Given the description of an element on the screen output the (x, y) to click on. 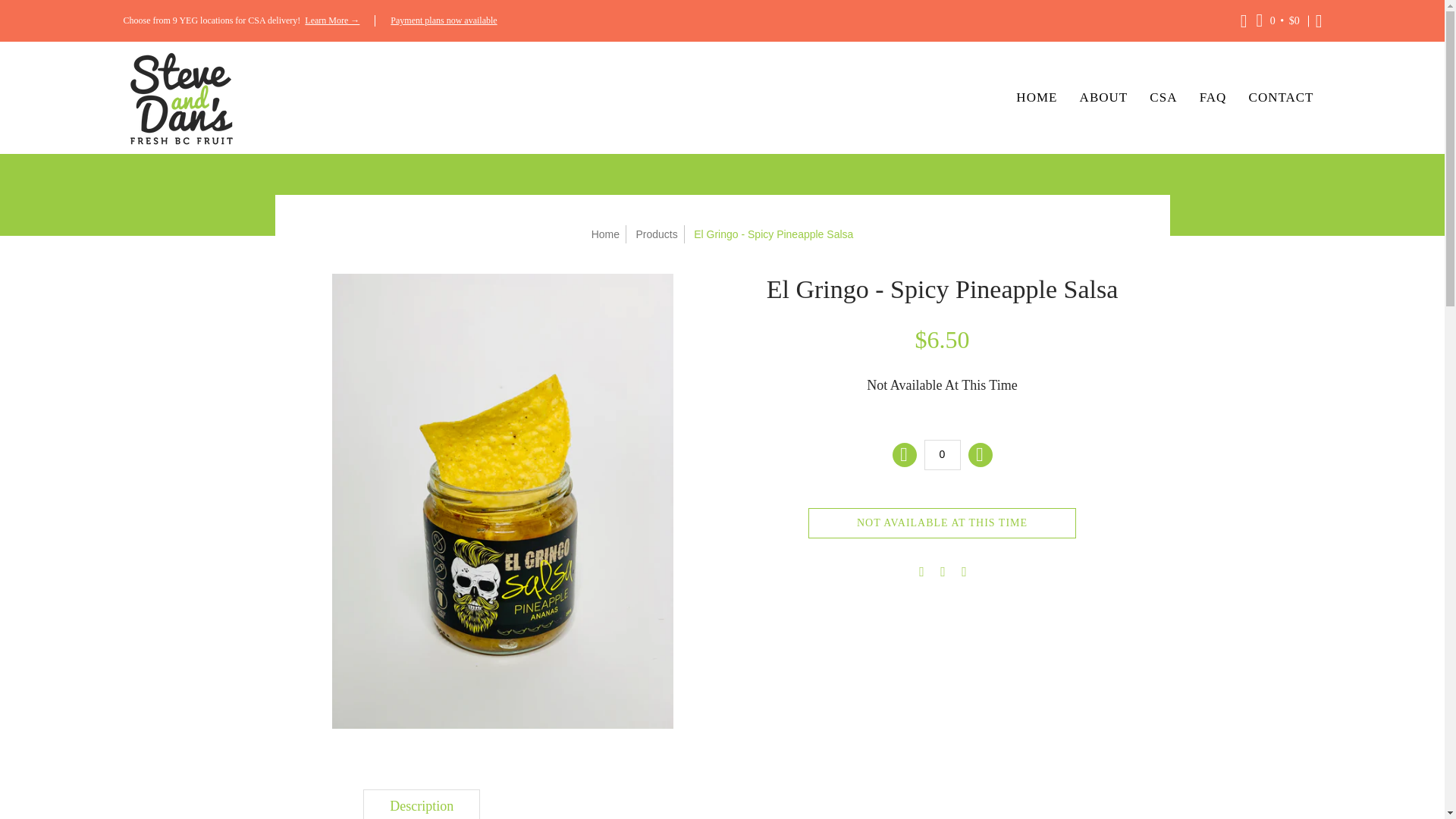
HOME (1032, 97)
Description (421, 804)
Contact (1276, 97)
Home (605, 234)
Not Available At This Time (941, 522)
Products (655, 234)
CSA (1160, 97)
0 (941, 454)
CSA (1160, 97)
Cart (1278, 20)
Home (1032, 97)
CONTACT (1276, 97)
CSA Pickup Locations (331, 20)
Steve and Dans Online Market (178, 97)
Back to the home page (605, 234)
